Given the description of an element on the screen output the (x, y) to click on. 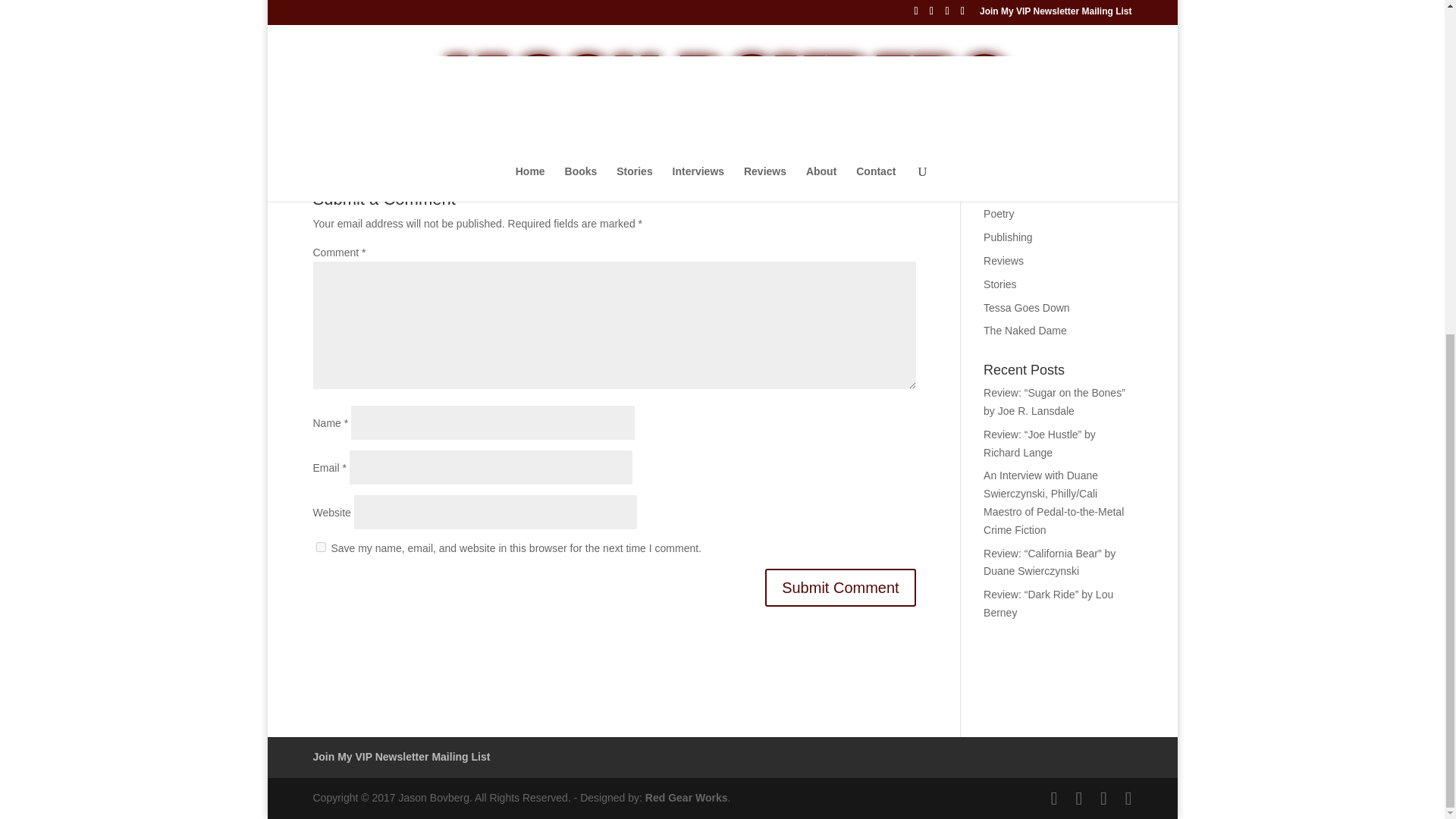
Ingmar Bergman (1023, 96)
Giveaway (1006, 27)
yes (319, 547)
Residential AV Presents: Connected Home Media (511, 111)
Hitchcock (1006, 50)
Submit Comment (840, 587)
Interviews (1007, 120)
Journalism (1009, 143)
Noir (993, 191)
Loser Baby (1010, 167)
Submit Comment (840, 587)
Film (993, 4)
Horror (998, 73)
